Given the description of an element on the screen output the (x, y) to click on. 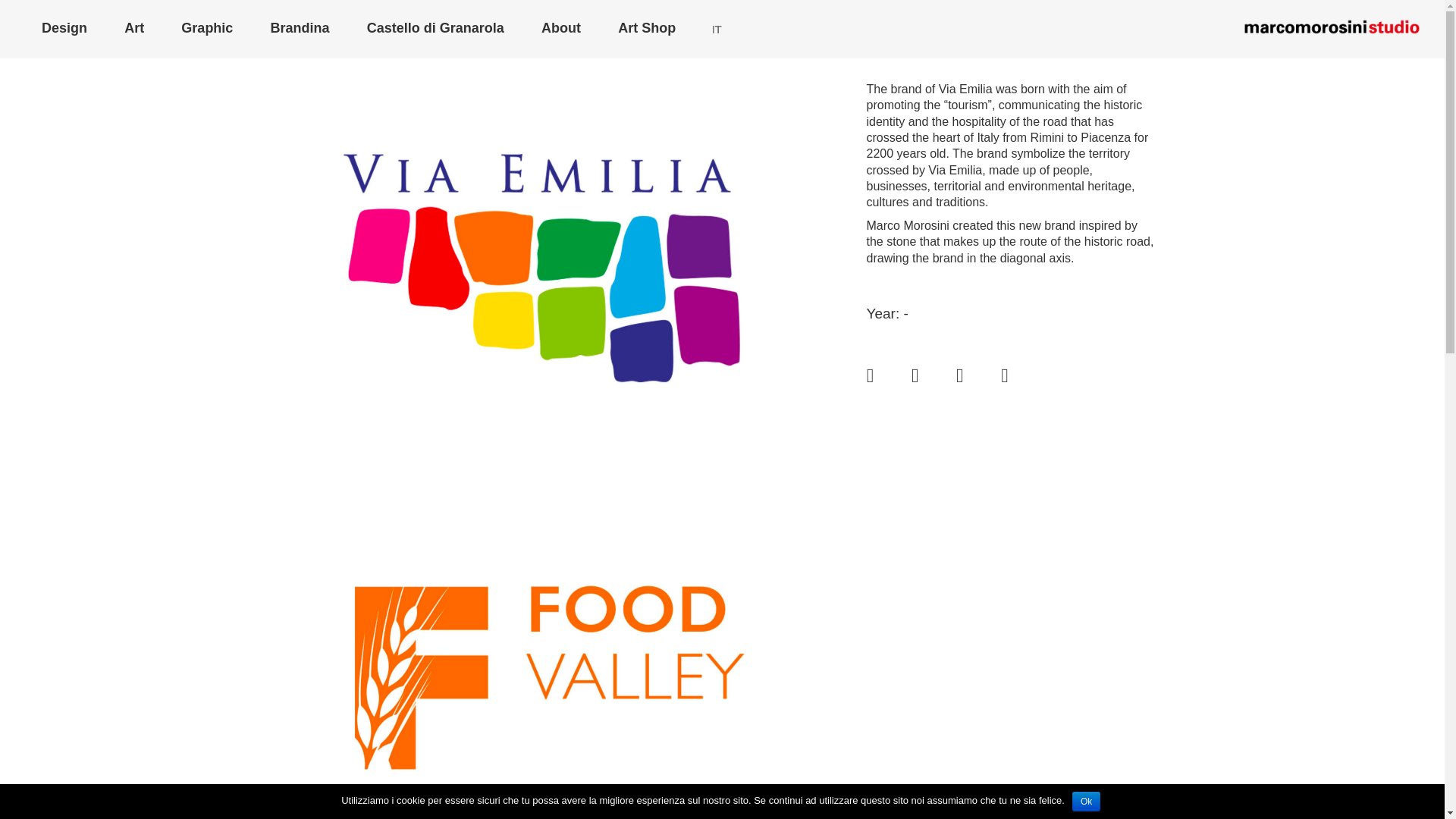
Design (64, 28)
Graphic (206, 28)
Brandina (300, 28)
About (560, 28)
Art Shop (646, 28)
Art (133, 28)
Italiano (717, 29)
Castello di Granarola (434, 28)
